Given the description of an element on the screen output the (x, y) to click on. 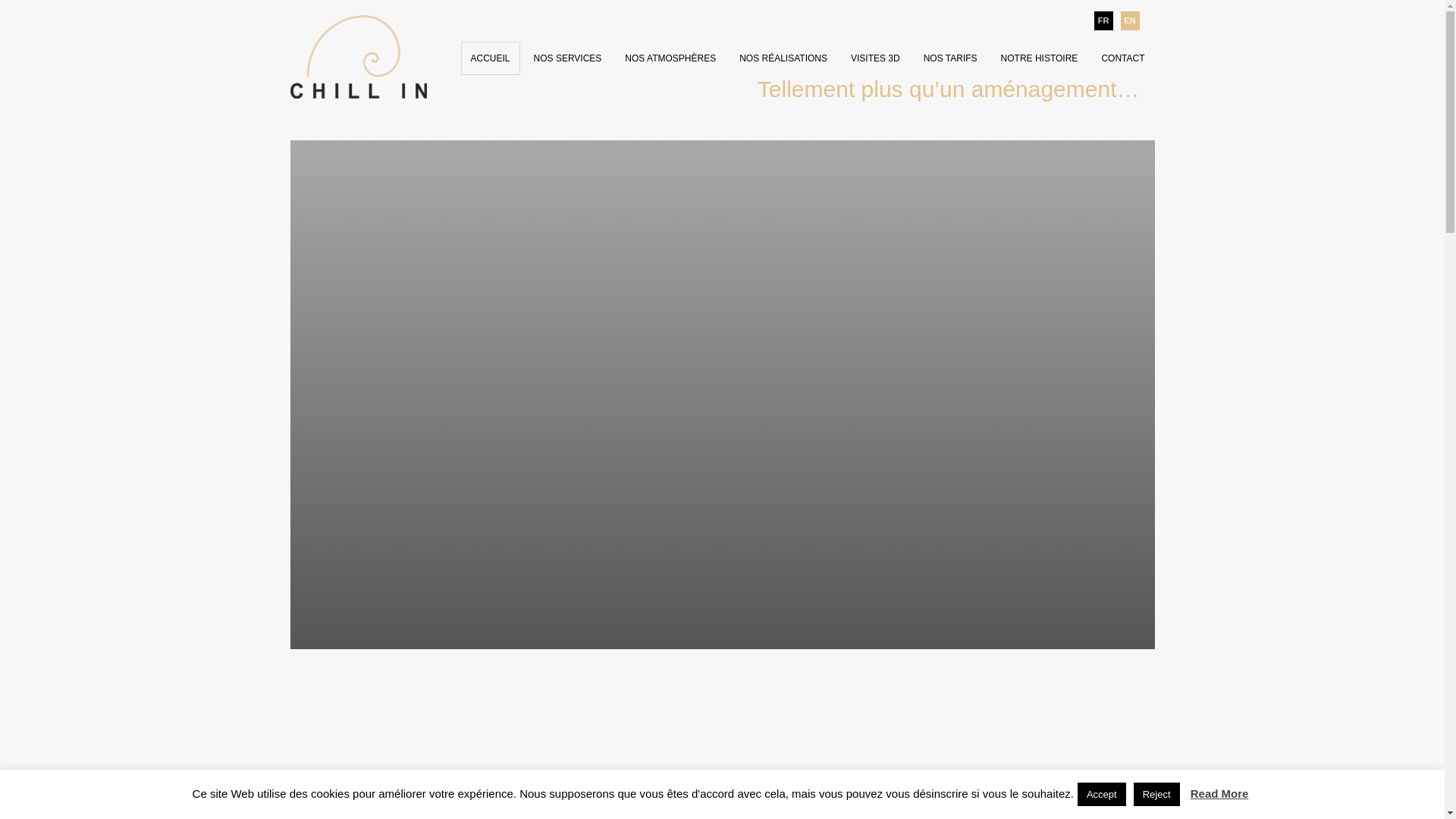
VISITES 3D Element type: text (875, 58)
Reject Element type: text (1156, 794)
FR Element type: text (1102, 19)
Accept Element type: text (1101, 794)
ACCUEIL Element type: text (490, 58)
NOTRE HISTOIRE Element type: text (1039, 58)
EN Element type: text (1129, 19)
CONTACT Element type: text (1122, 58)
NOS TARIFS Element type: text (950, 58)
Read More Element type: text (1219, 793)
NOS SERVICES Element type: text (567, 58)
